Given the description of an element on the screen output the (x, y) to click on. 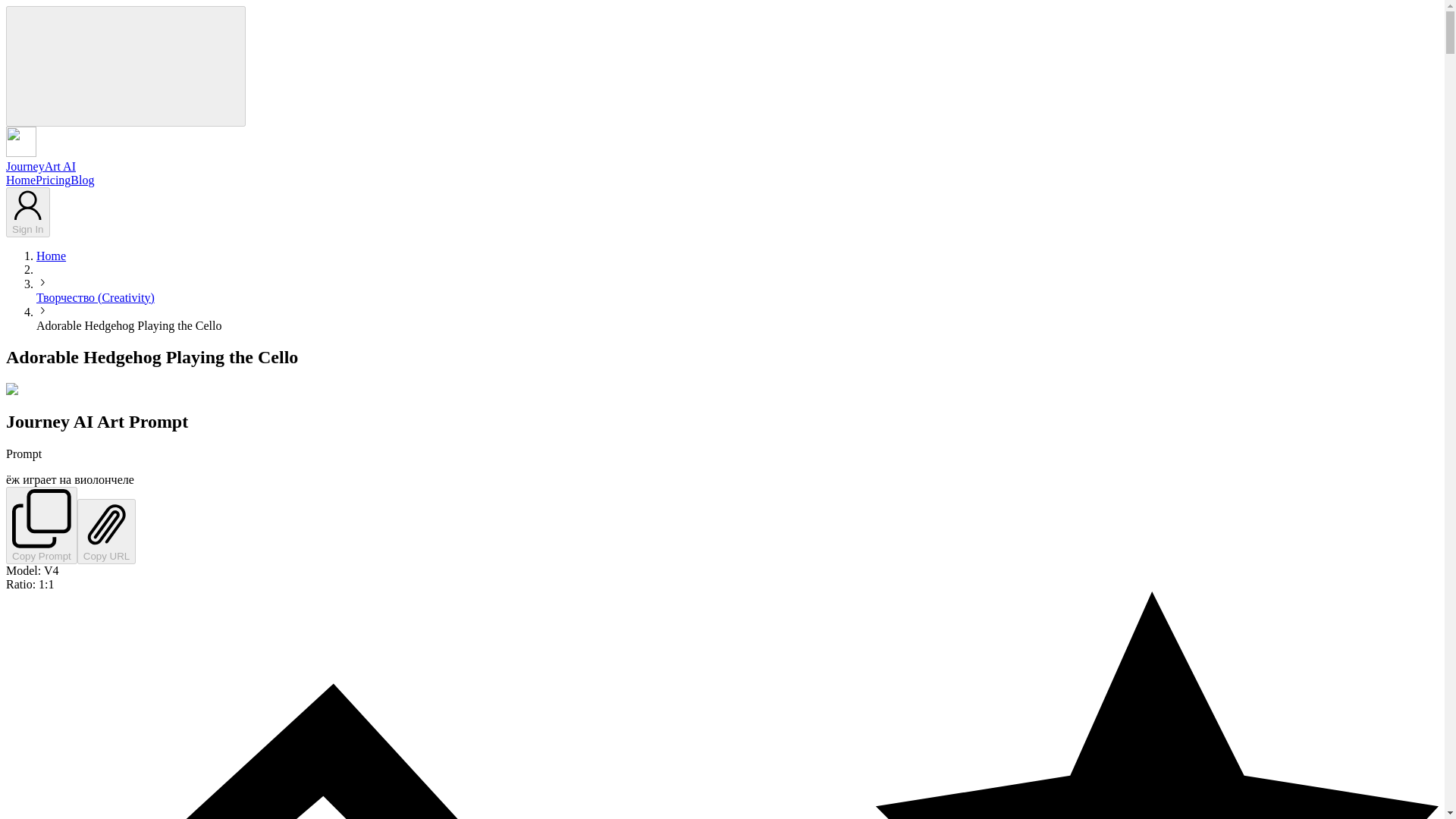
Copy Prompt (41, 525)
Copy URL (106, 530)
Pricing (51, 179)
Blog (81, 179)
Home (19, 179)
Home (50, 254)
